Given the description of an element on the screen output the (x, y) to click on. 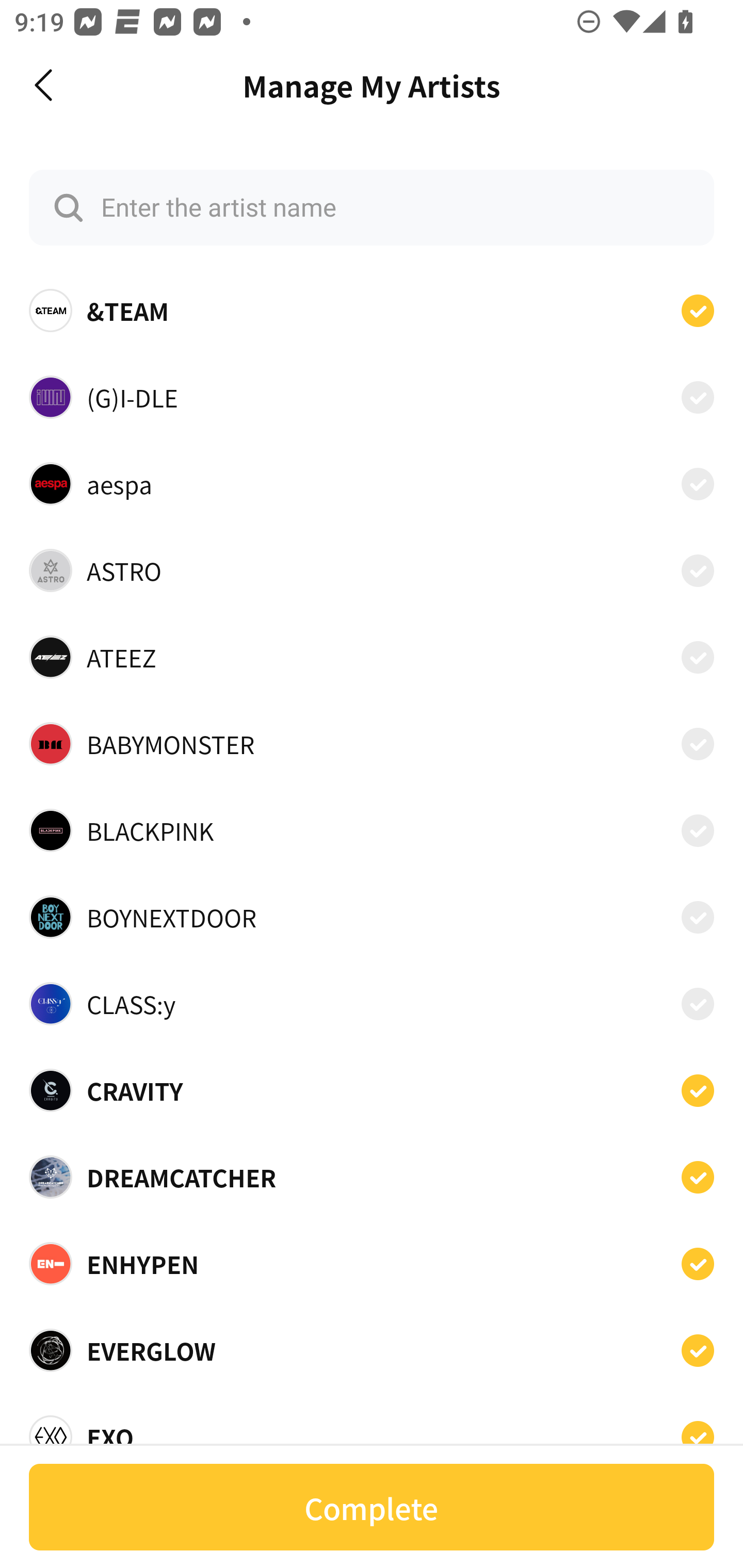
Enter the artist name (371, 207)
&TEAM (371, 310)
(G)I-DLE (371, 396)
aespa (371, 483)
ASTRO (371, 570)
ATEEZ (371, 656)
BABYMONSTER (371, 743)
BLACKPINK (371, 830)
BOYNEXTDOOR (371, 917)
CLASS:y (371, 1003)
CRAVITY (371, 1090)
DREAMCATCHER (371, 1176)
ENHYPEN (371, 1263)
EVERGLOW (371, 1350)
EXO (371, 1430)
Complete (371, 1507)
